Given the description of an element on the screen output the (x, y) to click on. 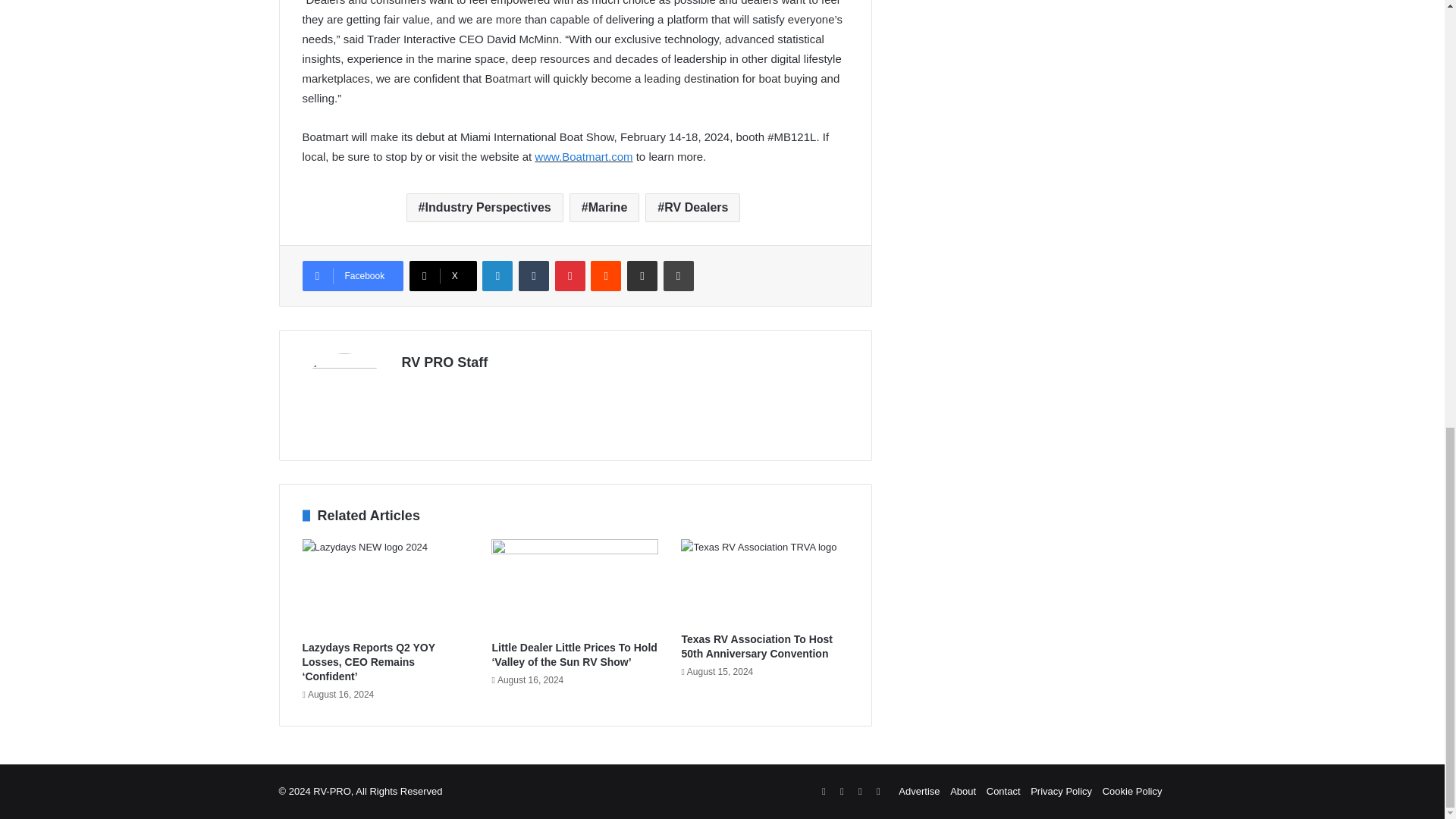
Reddit (606, 276)
X (443, 276)
Share via Email (642, 276)
Print (678, 276)
Tumblr (533, 276)
LinkedIn (496, 276)
Facebook (352, 276)
Pinterest (569, 276)
